Given the description of an element on the screen output the (x, y) to click on. 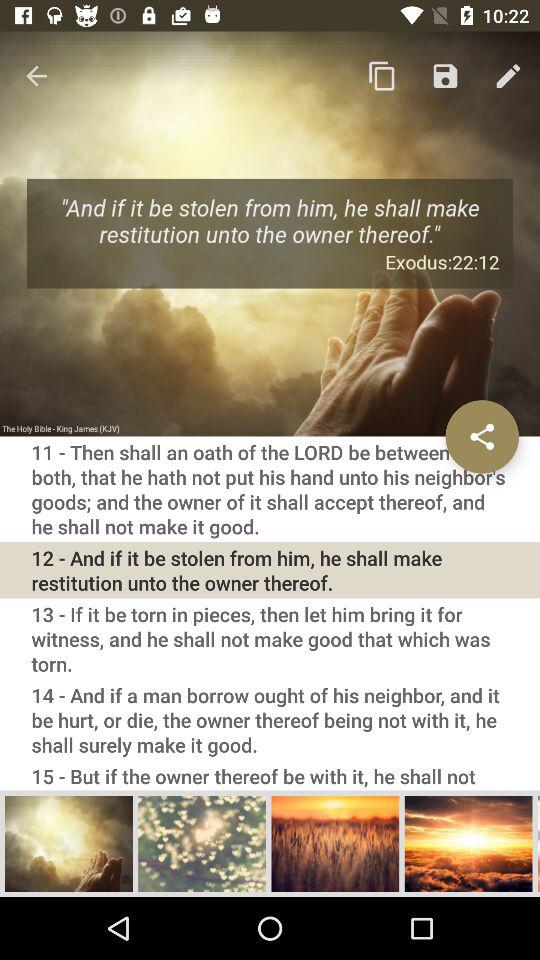
enlarge picture (468, 843)
